Given the description of an element on the screen output the (x, y) to click on. 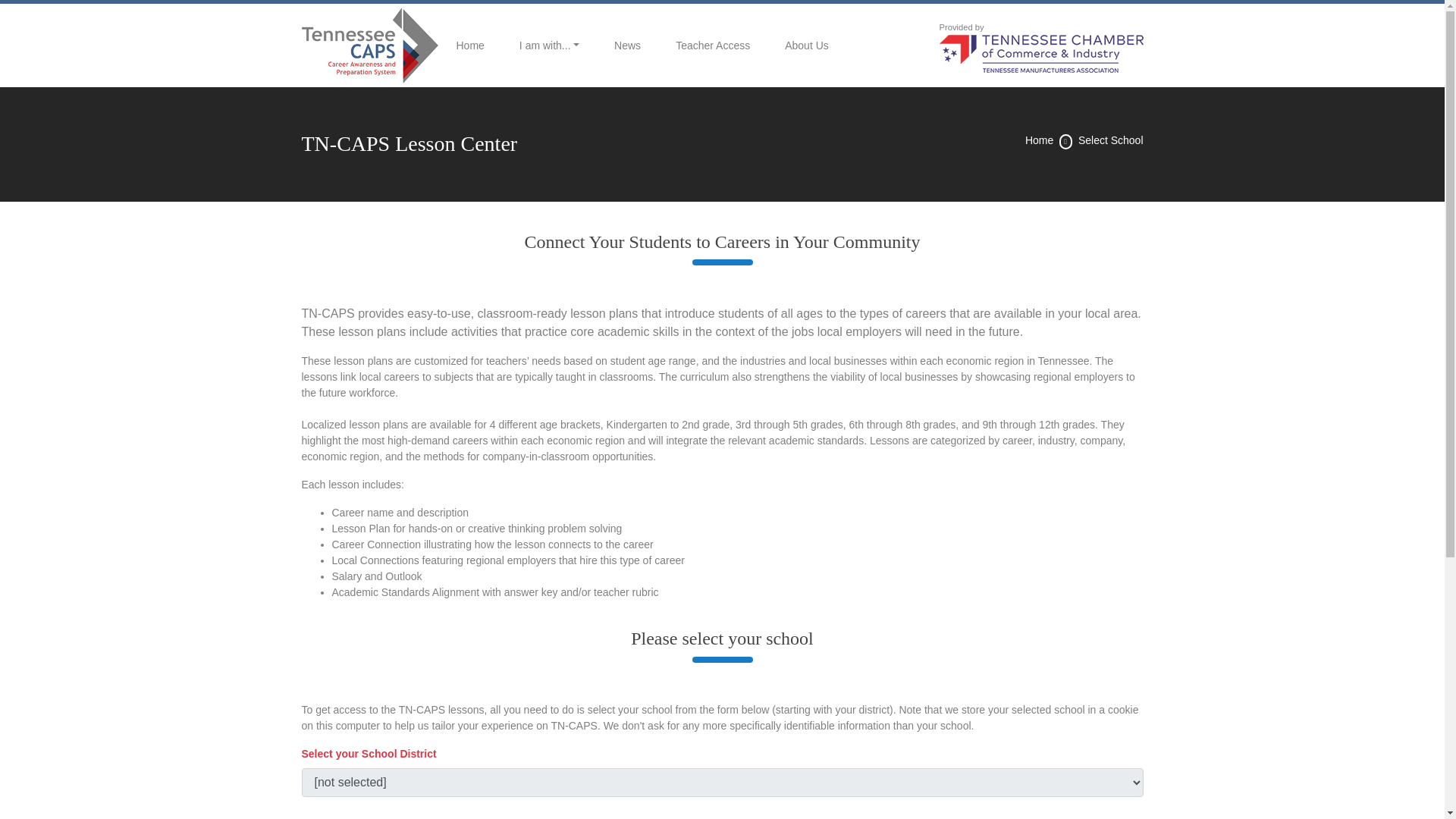
Teacher Access (712, 45)
Select School (1110, 140)
Home (469, 45)
News (627, 45)
About Us (806, 45)
Home (1038, 140)
I am with... (549, 45)
